Given the description of an element on the screen output the (x, y) to click on. 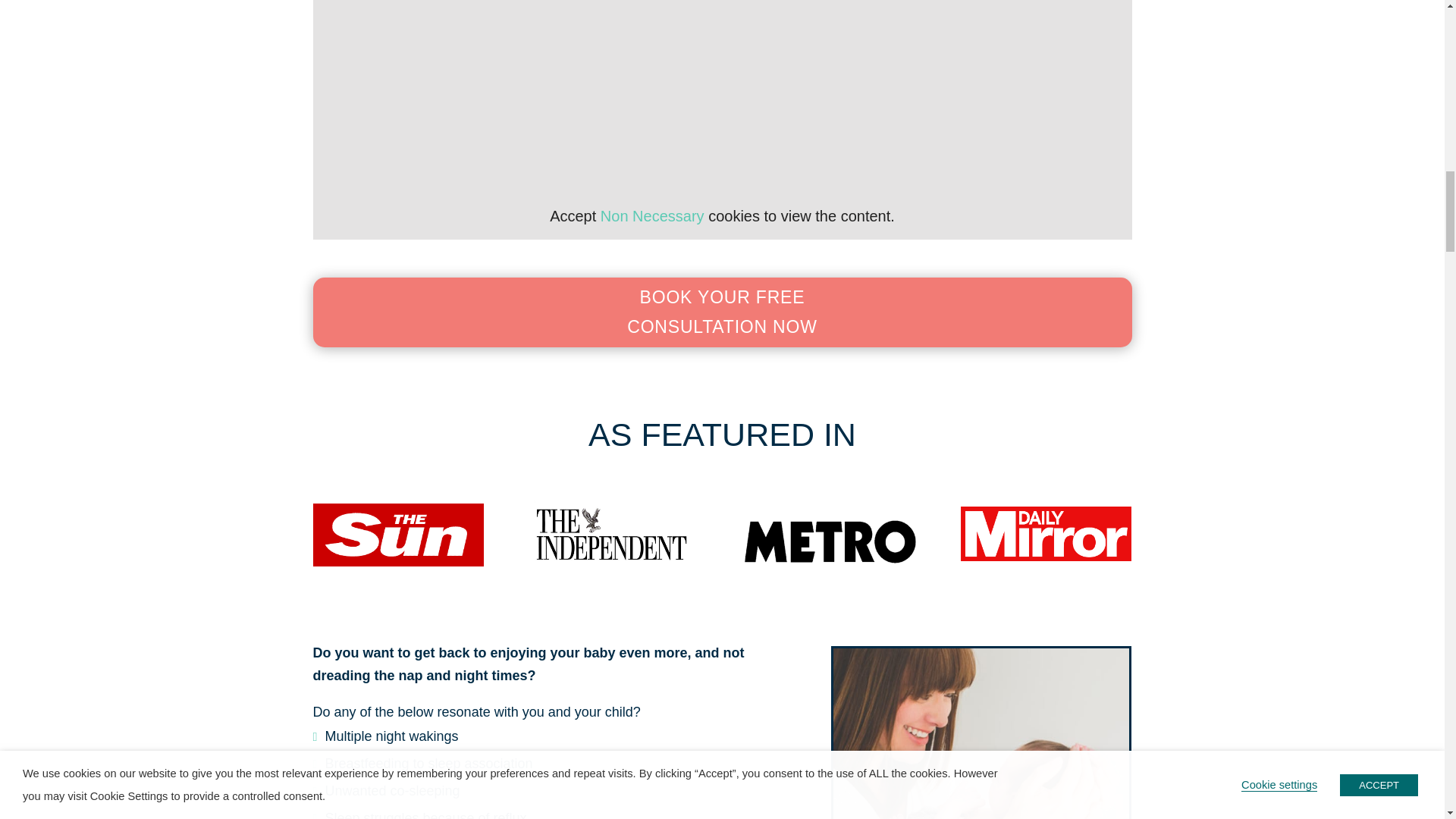
The Sun (398, 534)
Metro2 (829, 540)
Non Necessary (651, 216)
independent1 (613, 534)
BOOK YOUR FREE CONSULTATION NOW (722, 312)
